Given the description of an element on the screen output the (x, y) to click on. 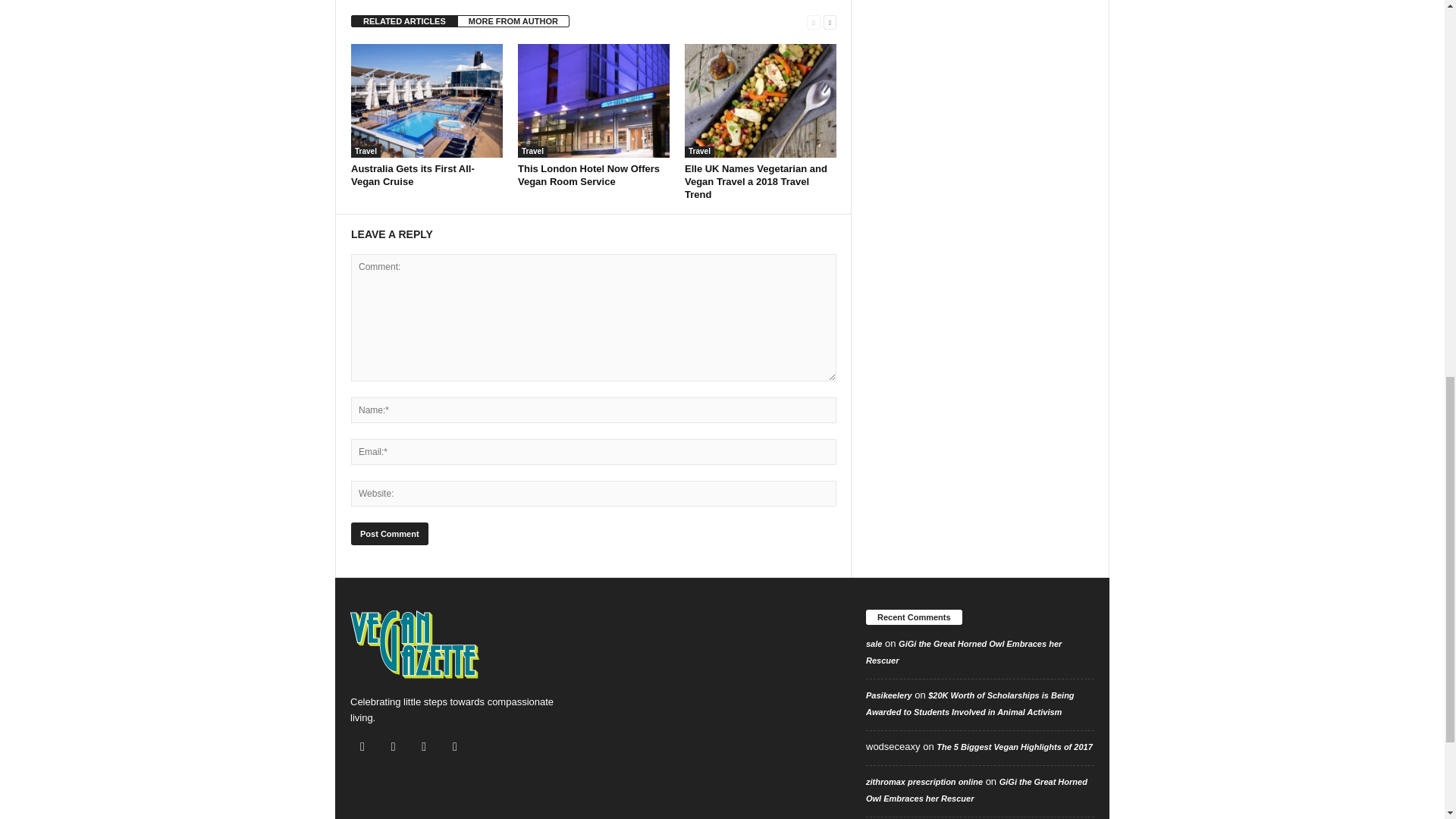
Post Comment (389, 533)
Australia Gets its First All-Vegan Cruise (426, 101)
Australia Gets its First All-Vegan Cruise (412, 174)
This London Hotel Now Offers Vegan Room Service (593, 101)
This London Hotel Now Offers Vegan Room Service (588, 174)
